Given the description of an element on the screen output the (x, y) to click on. 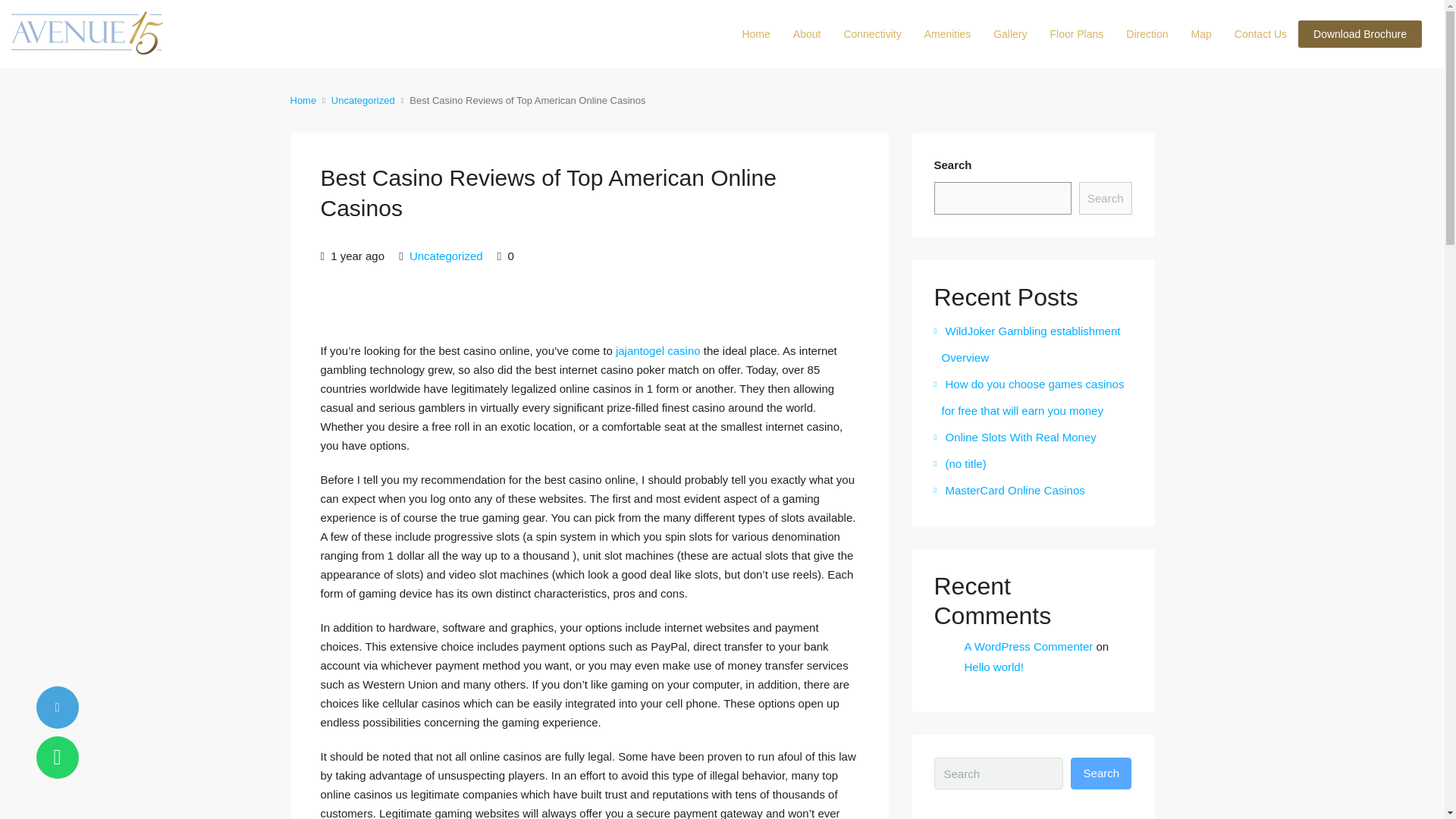
About (806, 33)
Amenities (946, 33)
Home (302, 99)
Gallery (1009, 33)
Direction (1147, 33)
Map (1201, 33)
Contact Us (1260, 33)
Uncategorized (446, 255)
Uncategorized (362, 99)
Download Brochure (1360, 33)
Connectivity (871, 33)
Floor Plans (1076, 33)
Home (755, 33)
jajantogel casino (657, 350)
